Given the description of an element on the screen output the (x, y) to click on. 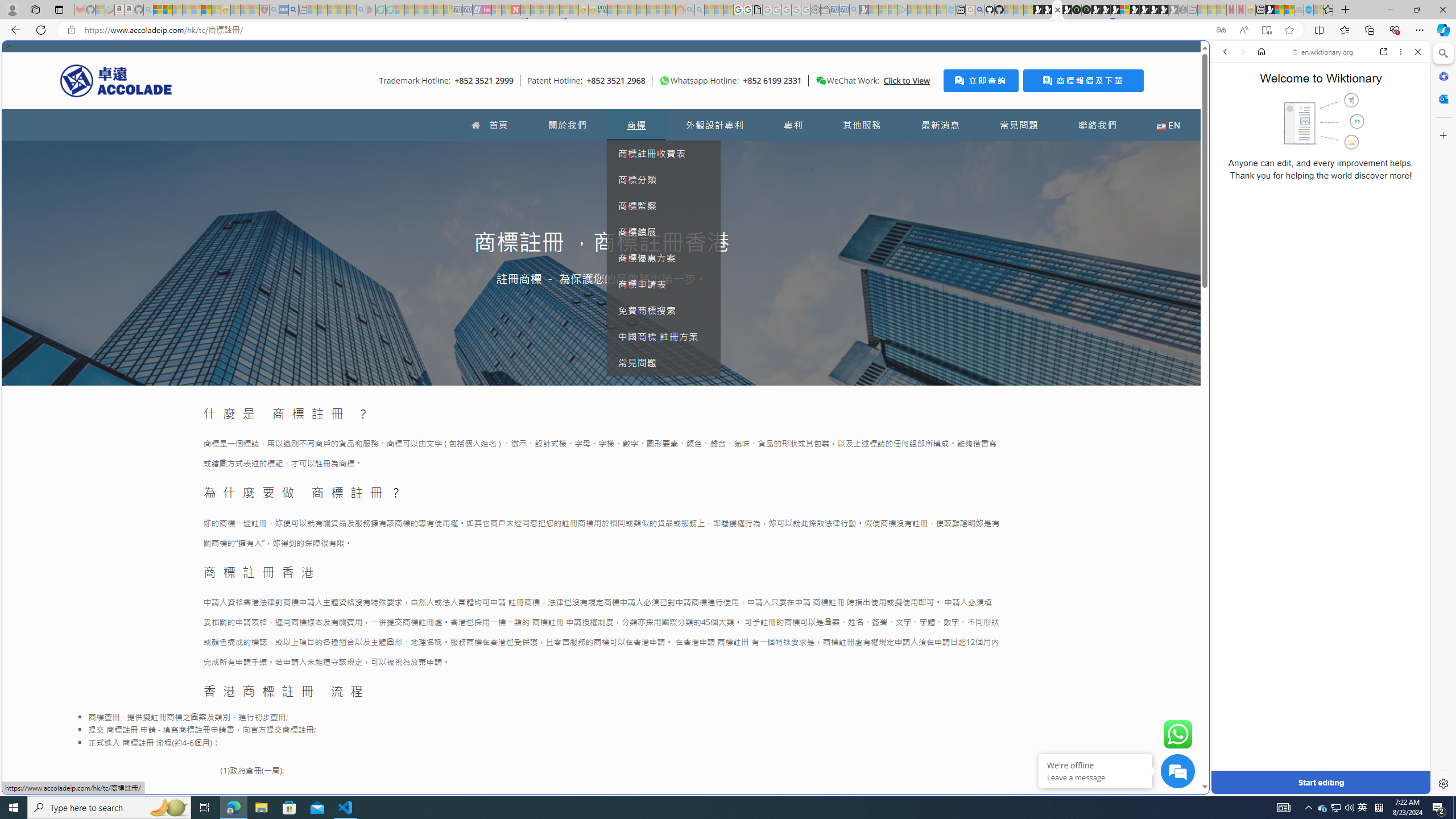
Trusted Community Engagement and Contributions | Guidelines (525, 9)
Expert Portfolios - Sleeping (640, 9)
Microsoft Start - Sleeping (930, 9)
utah sues federal government - Search (922, 389)
Global web icon (1232, 786)
Microsoft Start Gaming - Sleeping (863, 9)
